Given the description of an element on the screen output the (x, y) to click on. 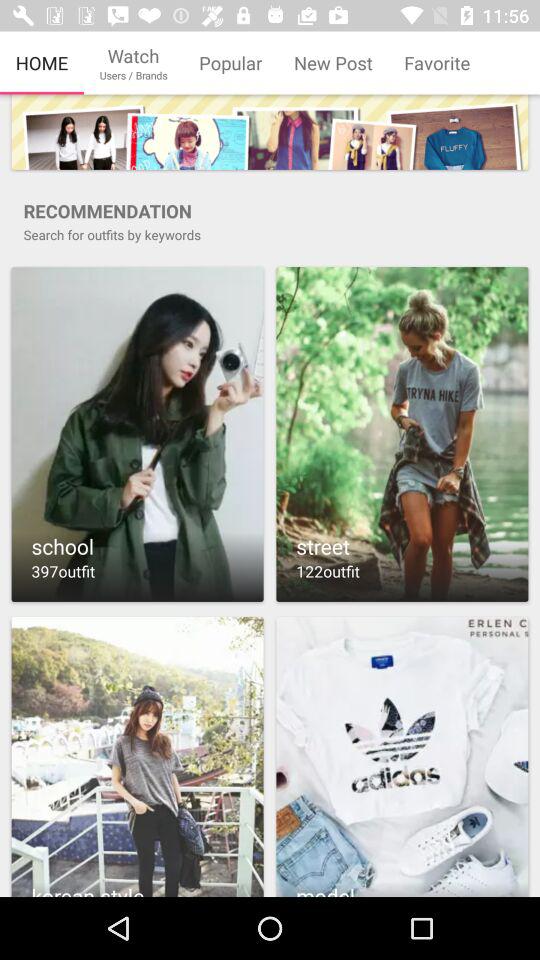
select reccomended option street (402, 434)
